Given the description of an element on the screen output the (x, y) to click on. 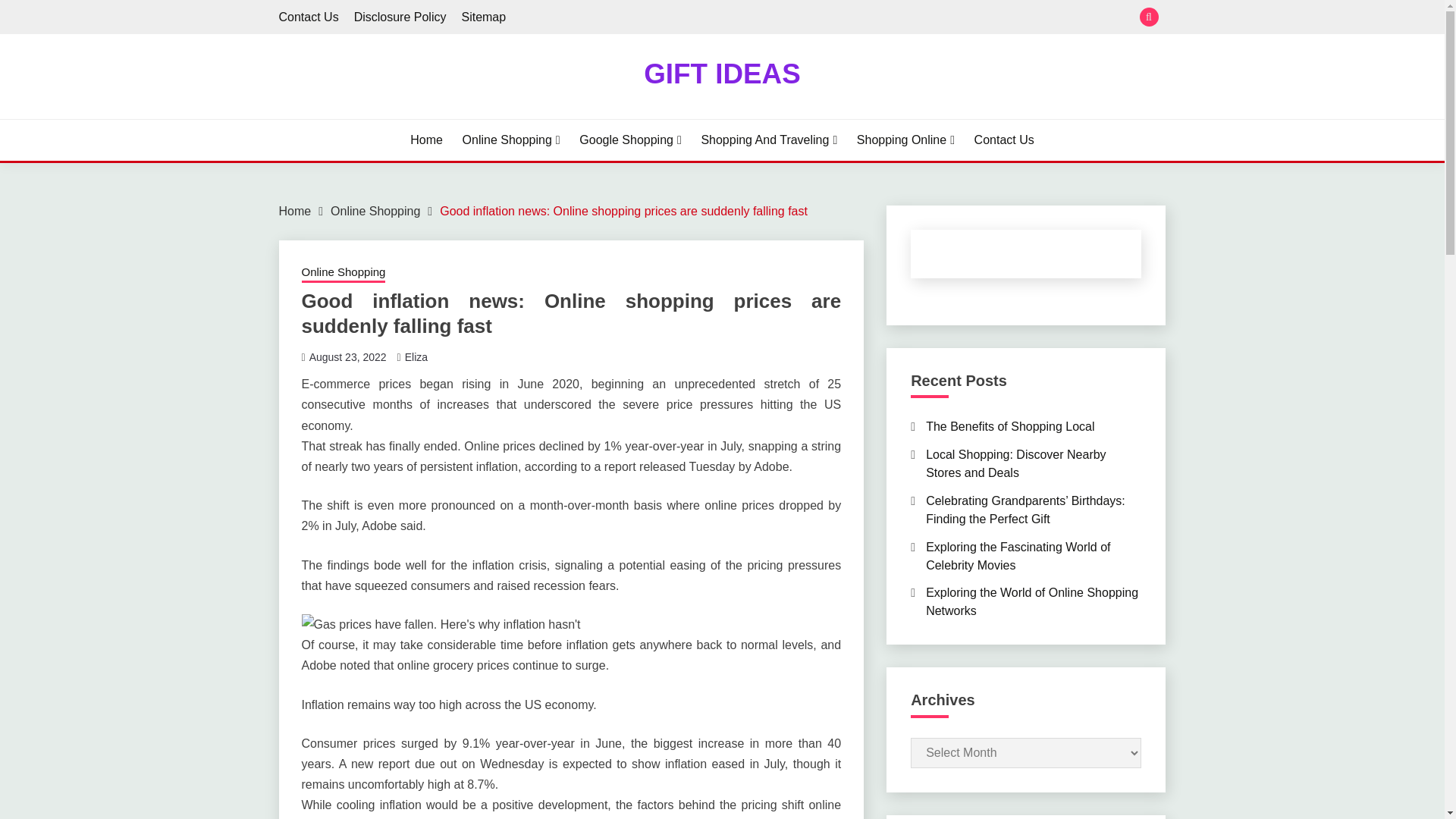
Online Shopping (375, 210)
Shopping Online (906, 140)
Contact Us (309, 16)
Online Shopping (343, 273)
August 23, 2022 (347, 357)
Online Shopping (511, 140)
Contact Us (1003, 140)
Eliza (416, 357)
Disclosure Policy (399, 16)
